Given the description of an element on the screen output the (x, y) to click on. 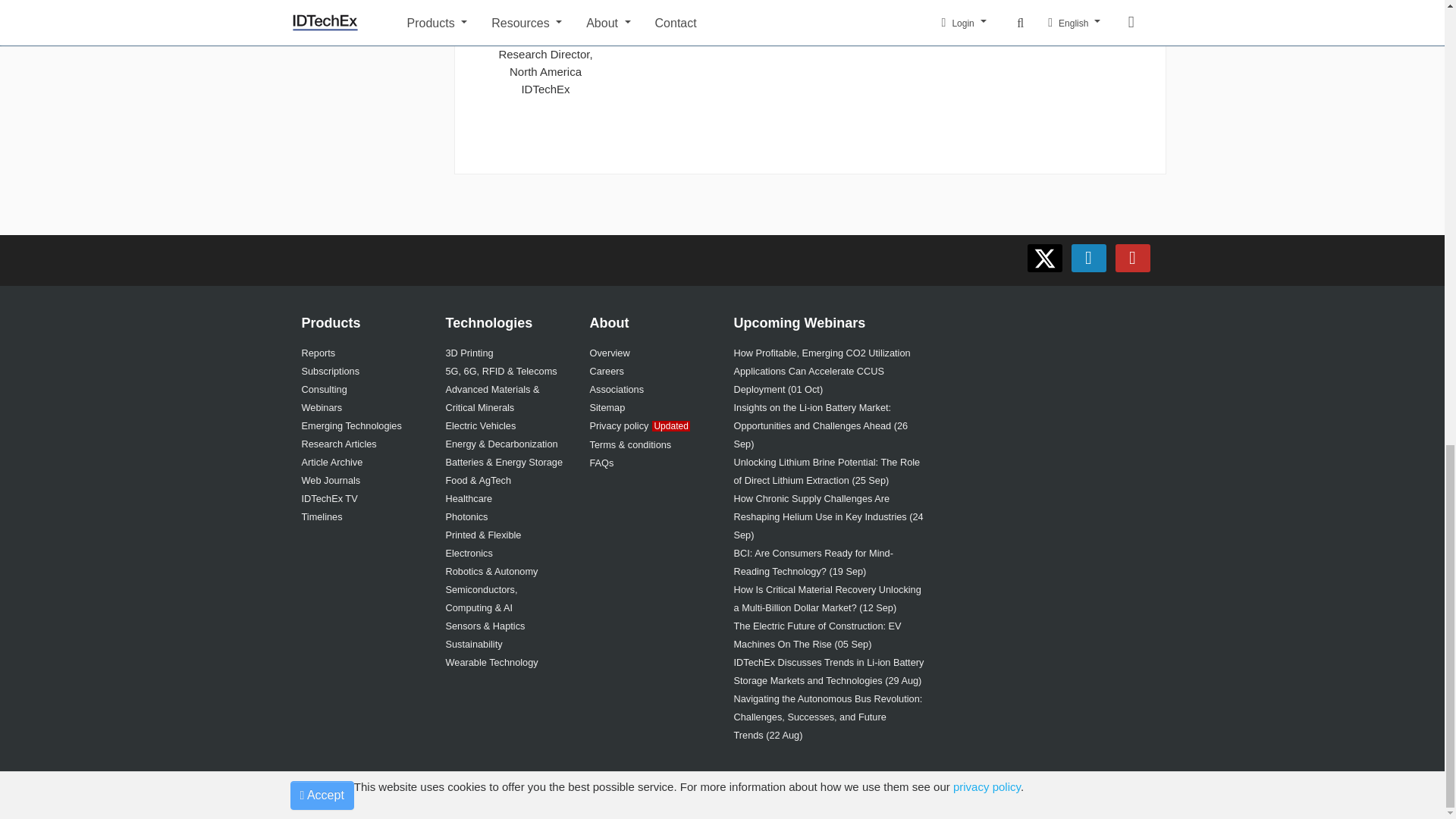
Reports (318, 352)
Timelines (321, 516)
Emerging Technologies (351, 425)
Web Journals (331, 480)
3D Printing (469, 352)
IDTechEx TV (329, 498)
Research Articles (339, 443)
Consulting (324, 389)
Article Archive (331, 461)
Photonics (466, 516)
